Given the description of an element on the screen output the (x, y) to click on. 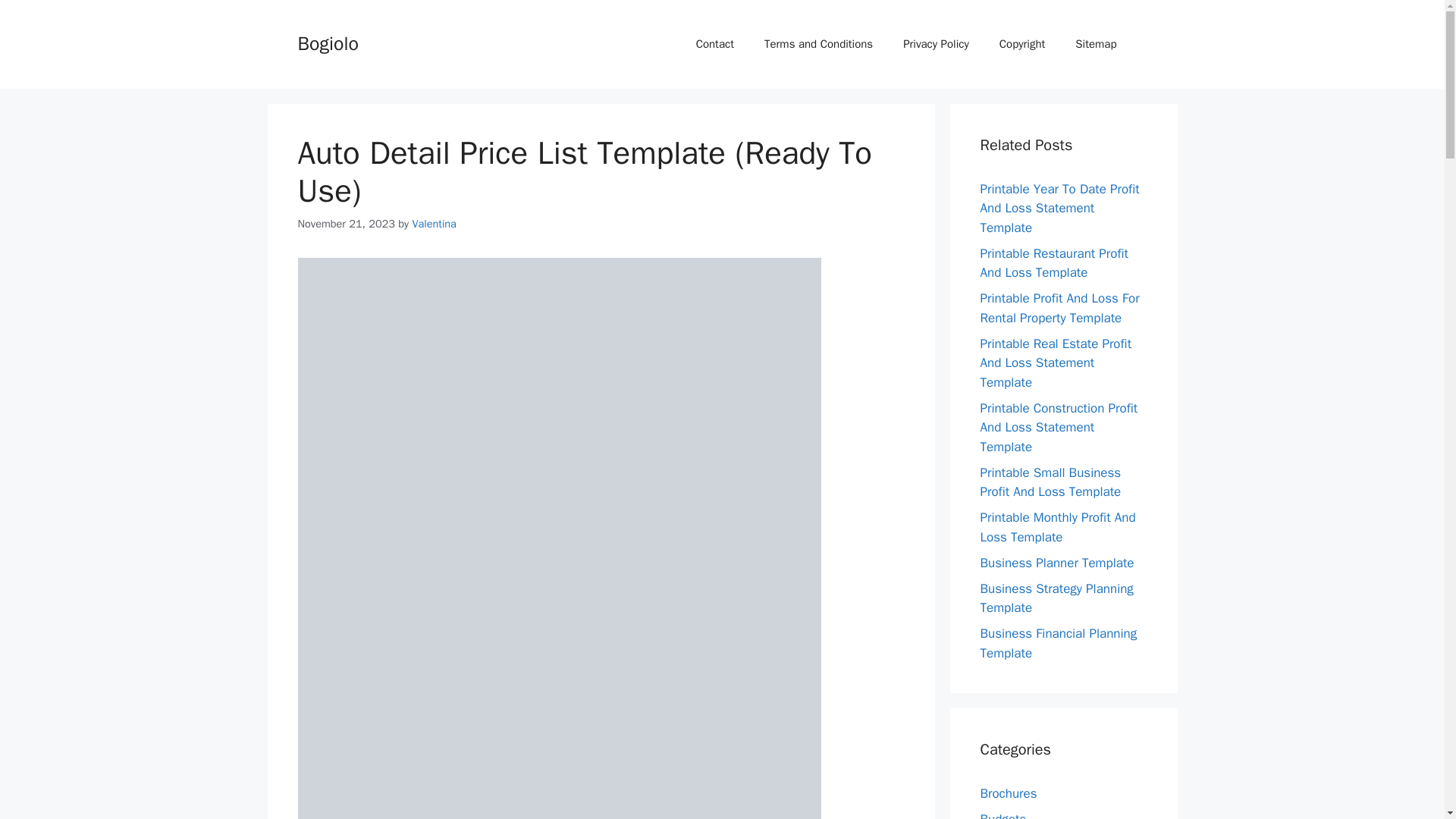
Valentina (434, 223)
Printable Restaurant Profit And Loss Template (1053, 263)
Bogiolo (327, 43)
Printable Real Estate Profit And Loss Statement Template (1055, 361)
Sitemap (1095, 43)
Contact (715, 43)
Copyright (1022, 43)
Printable Monthly Profit And Loss Template (1057, 527)
Terms and Conditions (818, 43)
Privacy Policy (936, 43)
